Given the description of an element on the screen output the (x, y) to click on. 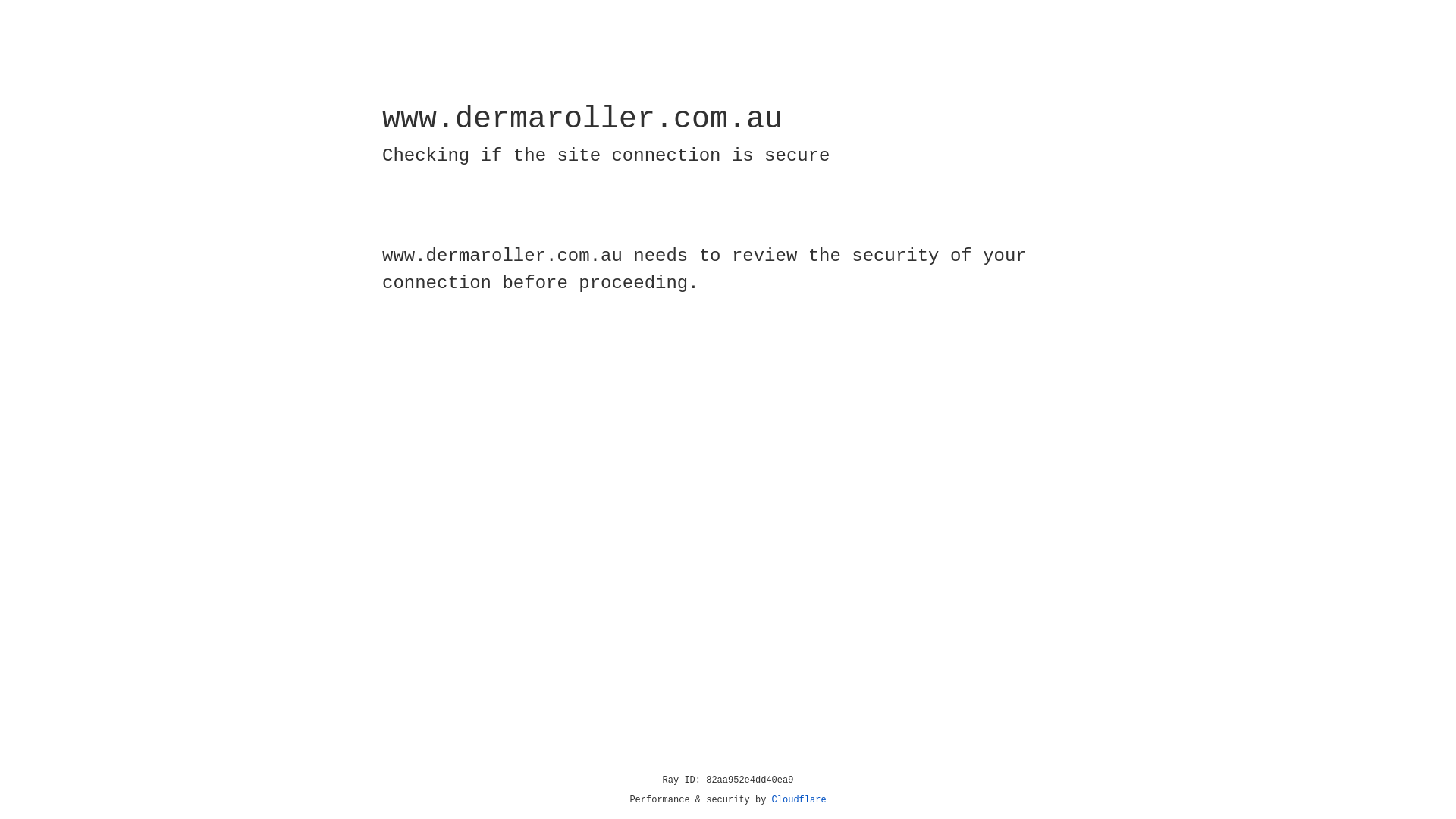
Cloudflare Element type: text (798, 799)
